Given the description of an element on the screen output the (x, y) to click on. 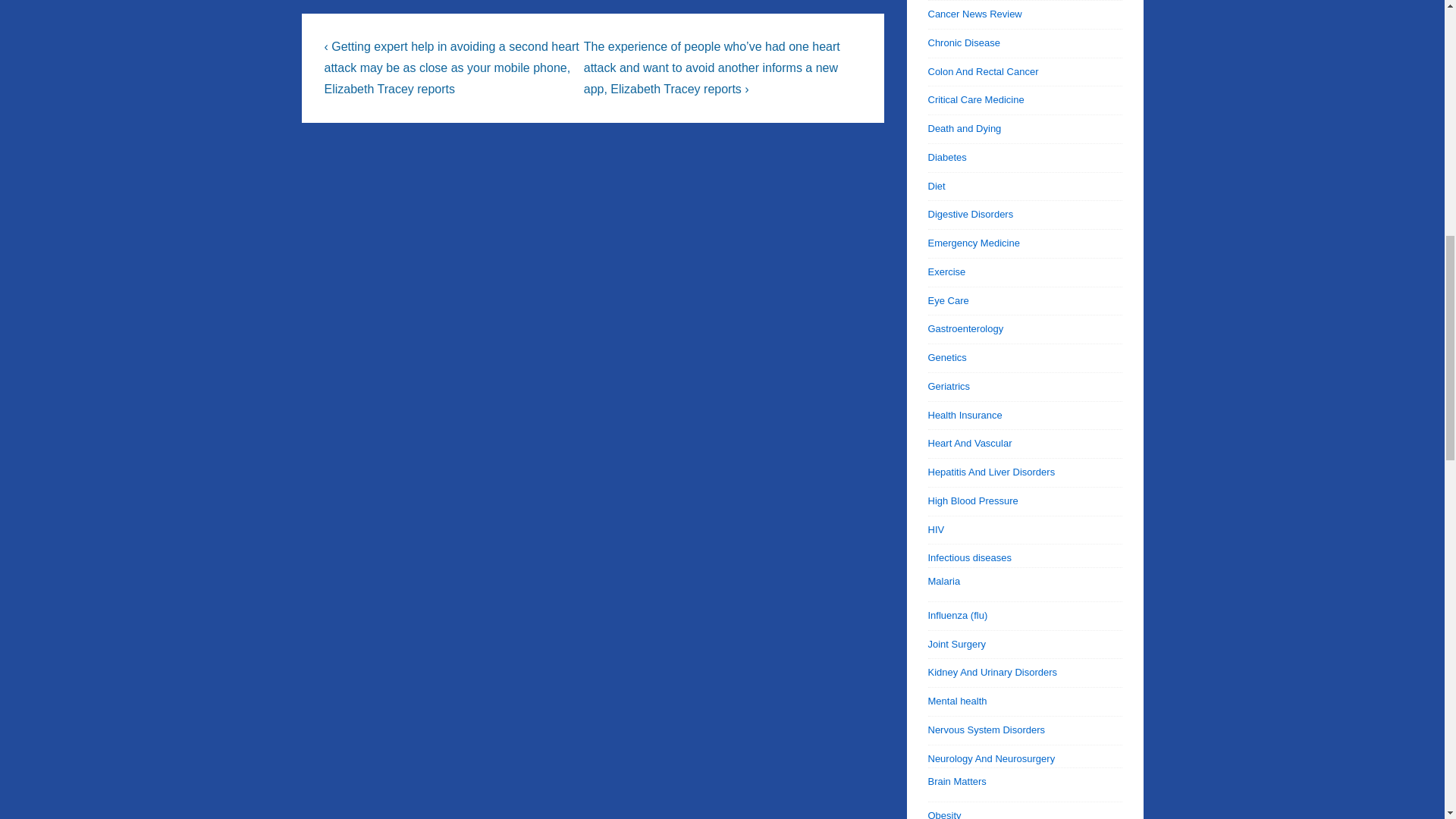
Chronic Disease (964, 42)
Colon And Rectal Cancer (983, 71)
Diet (936, 185)
Diabetes (947, 156)
Cancer News Review (975, 13)
Critical Care Medicine (976, 99)
Death and Dying (964, 128)
